Given the description of an element on the screen output the (x, y) to click on. 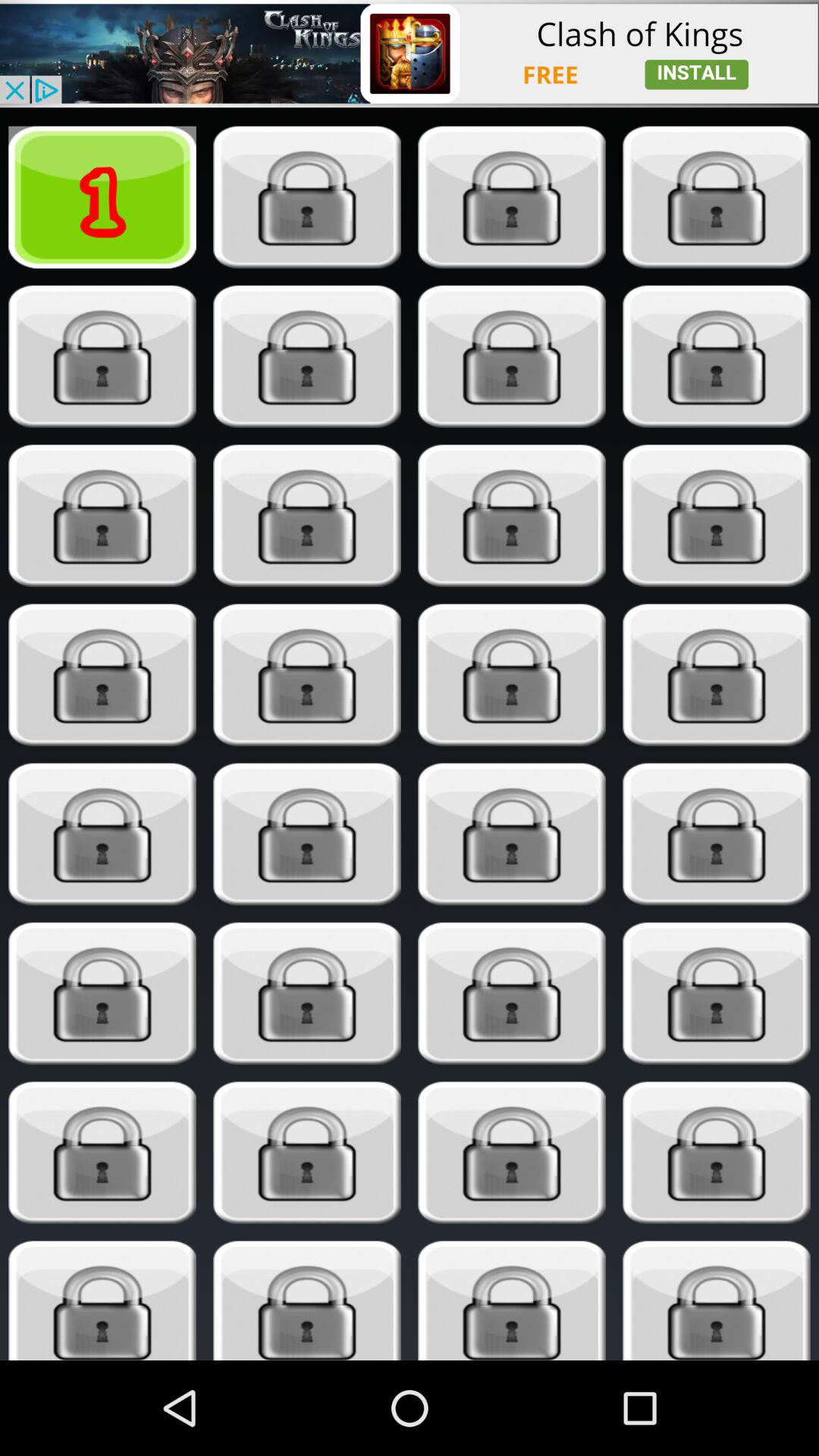
unlock next item (306, 197)
